Given the description of an element on the screen output the (x, y) to click on. 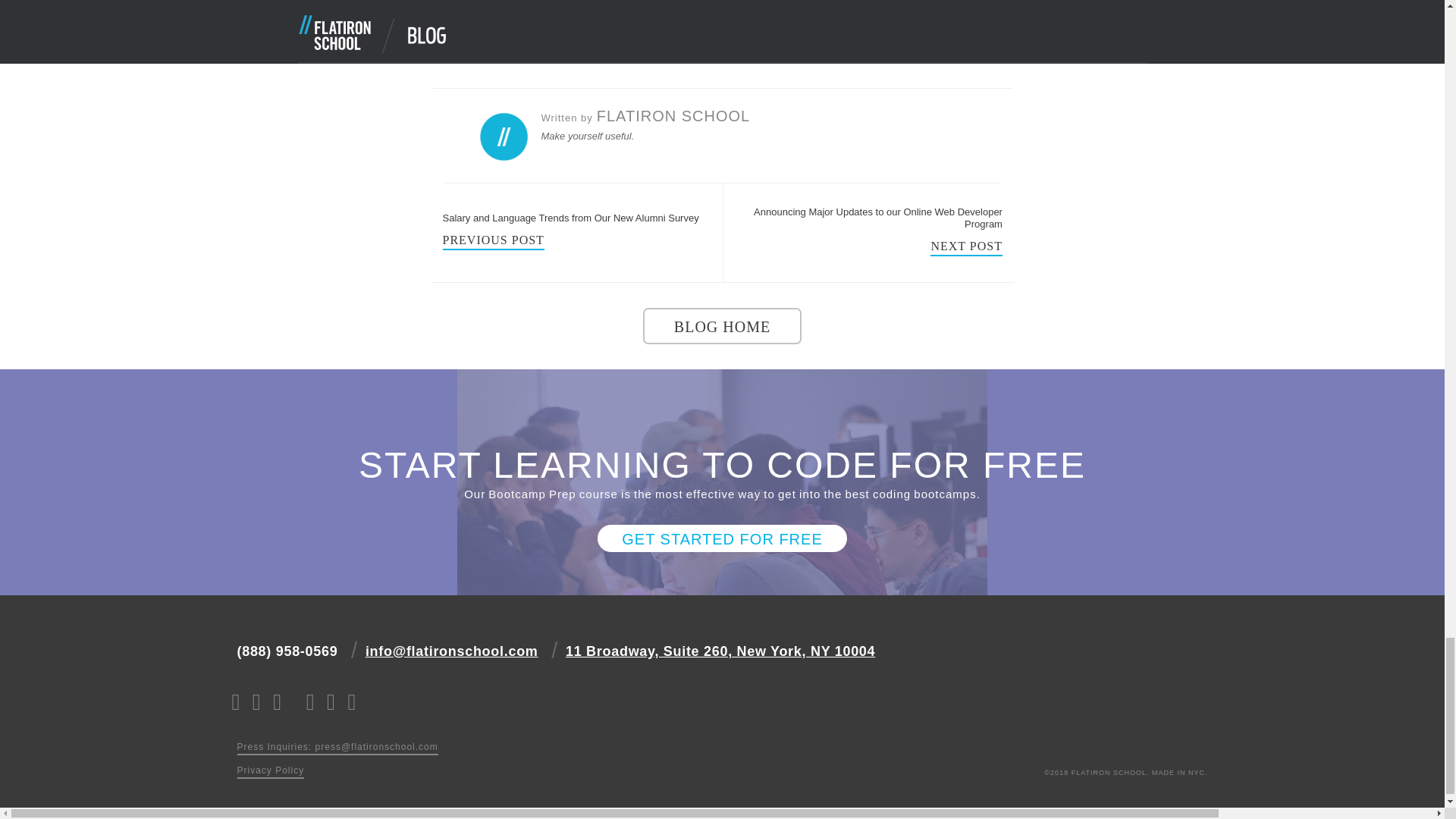
GET STARTED FOR FREE (720, 538)
BLOG HOME (722, 326)
11 Broadway, Suite 260, New York, NY 10004 (720, 651)
Head here to view our recent online Jobs Report (850, 46)
Written byFLATIRON SCHOOL (646, 115)
Privacy Policy (269, 771)
